Given the description of an element on the screen output the (x, y) to click on. 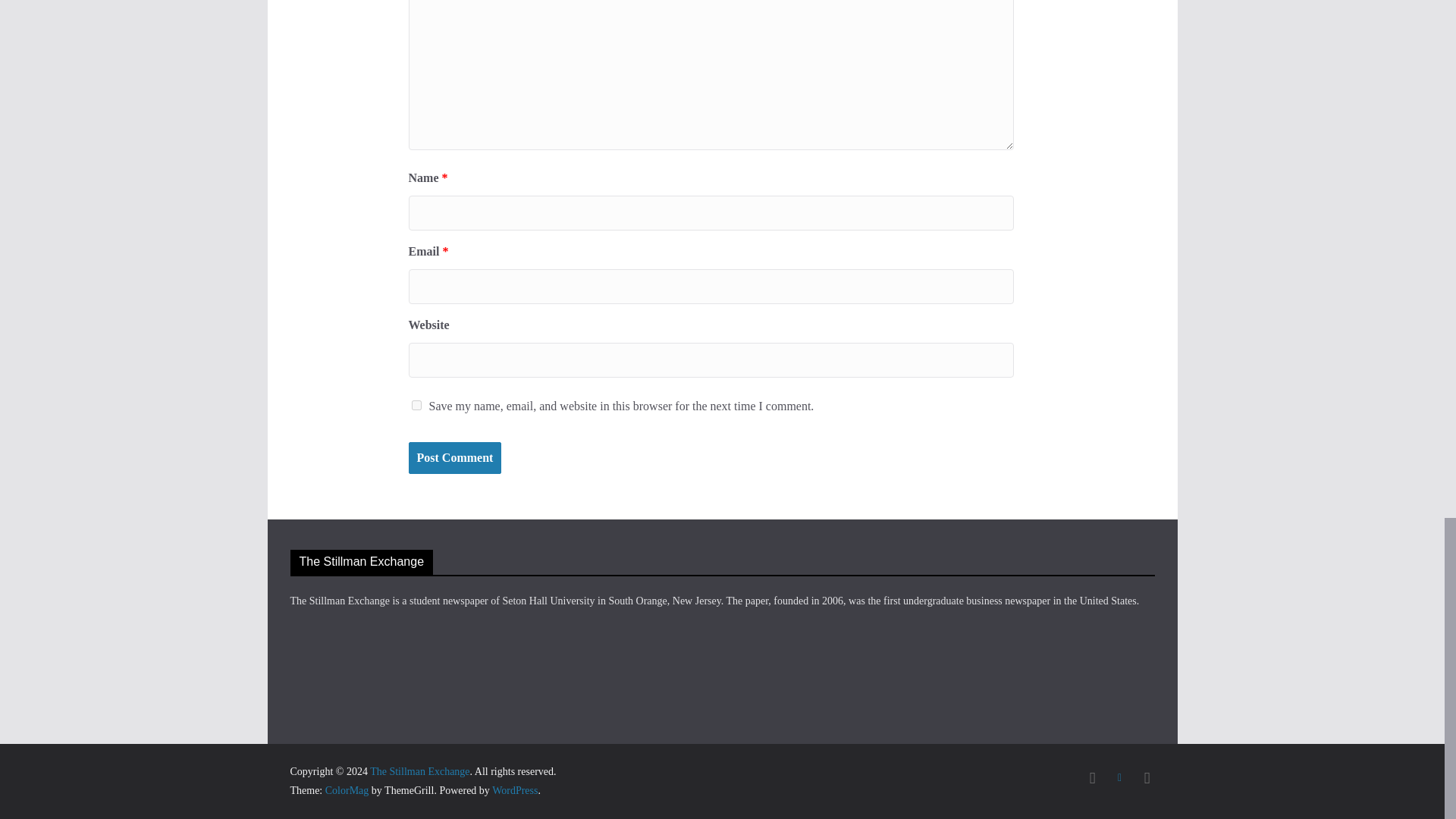
yes (415, 405)
Post Comment (453, 458)
WordPress (514, 790)
The Stillman Exchange (418, 771)
WordPress (514, 790)
ColorMag (346, 790)
ColorMag (346, 790)
The Stillman Exchange (418, 771)
Post Comment (453, 458)
